Given the description of an element on the screen output the (x, y) to click on. 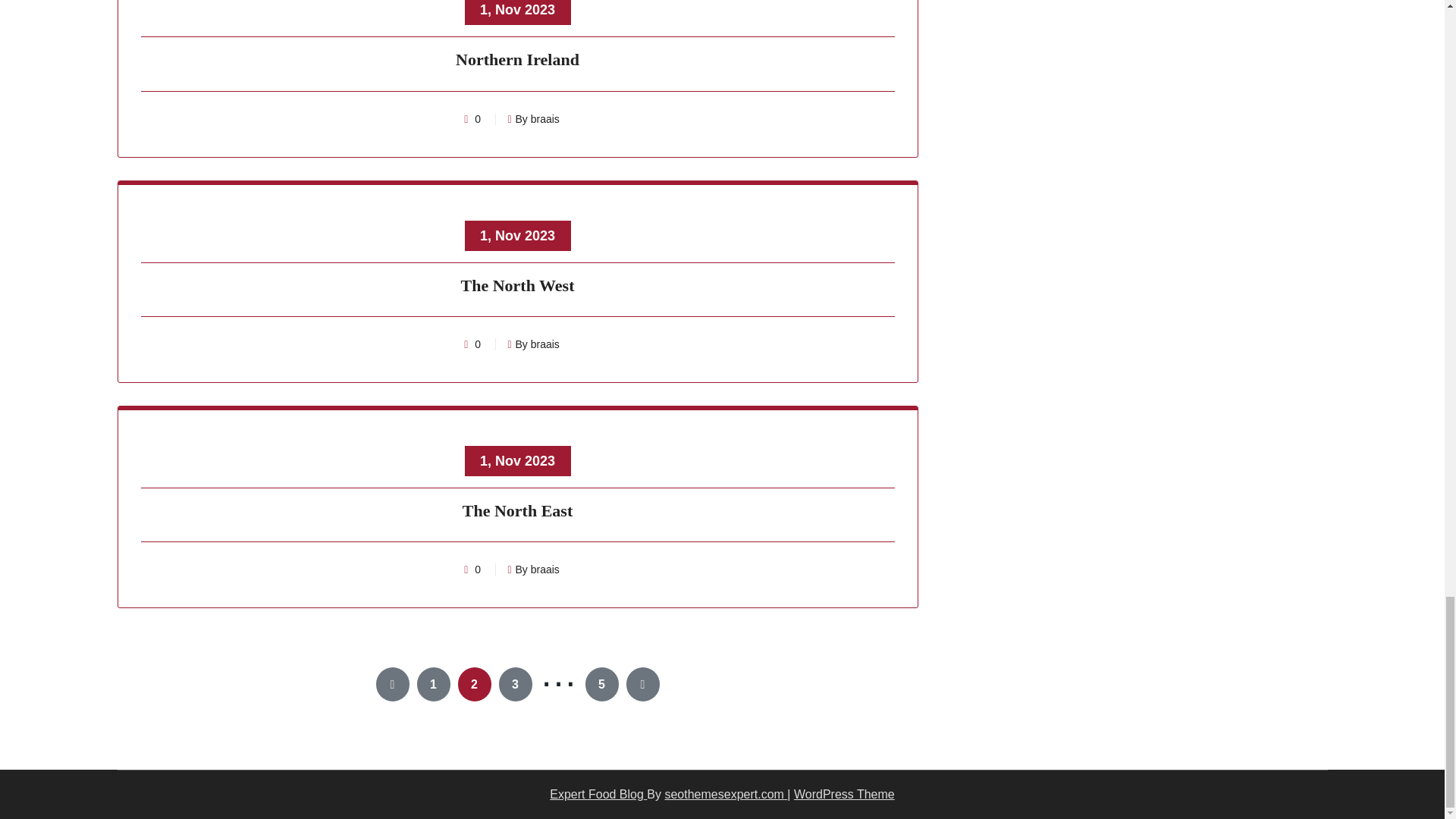
By braais (532, 119)
The North West (518, 287)
0 (478, 344)
0 (478, 119)
Northern Ireland (518, 62)
